Given the description of an element on the screen output the (x, y) to click on. 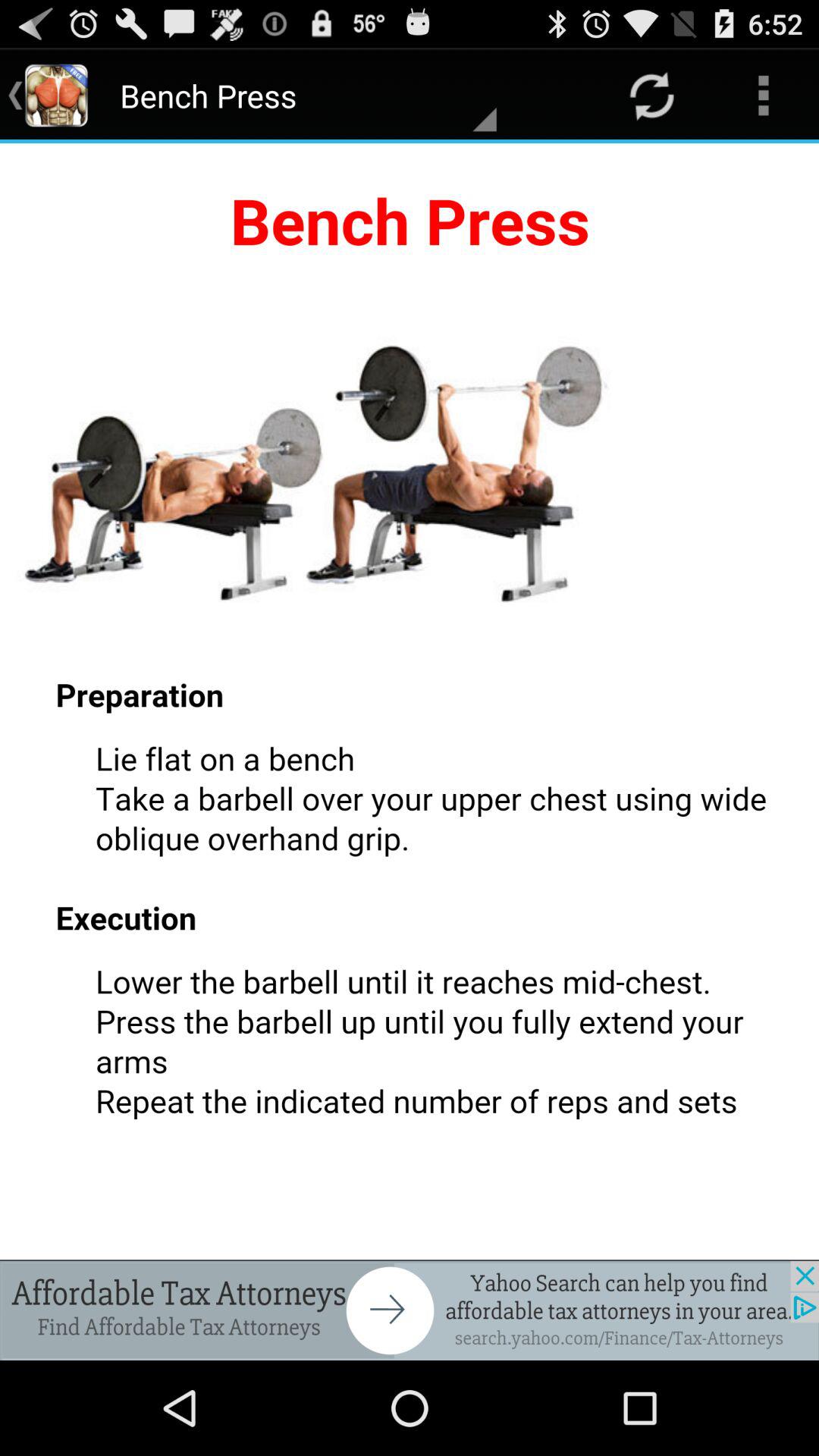
go to advertisement (409, 1310)
